Given the description of an element on the screen output the (x, y) to click on. 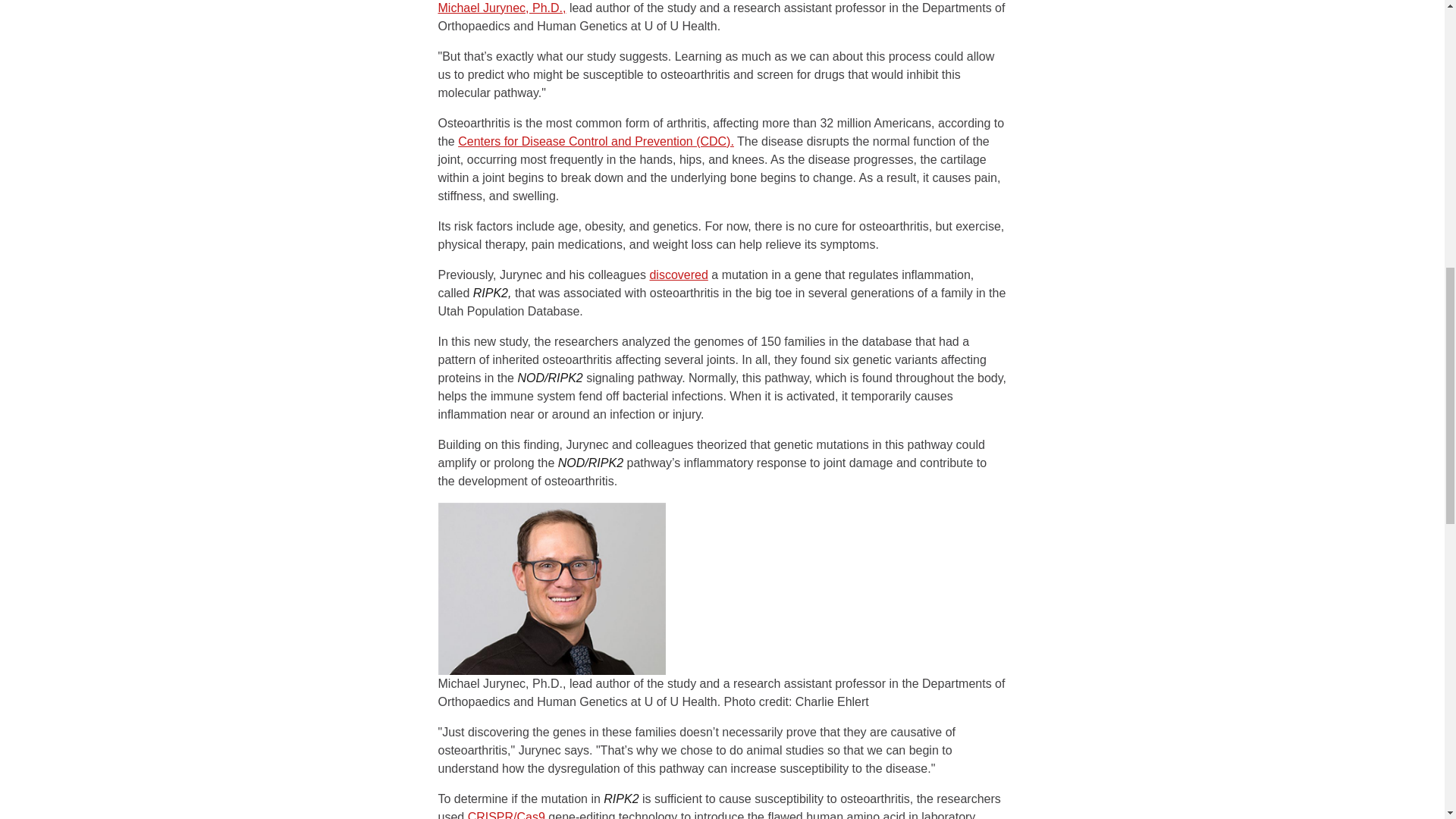
Michael Jurynec, Ph.D., (502, 7)
